Given the description of an element on the screen output the (x, y) to click on. 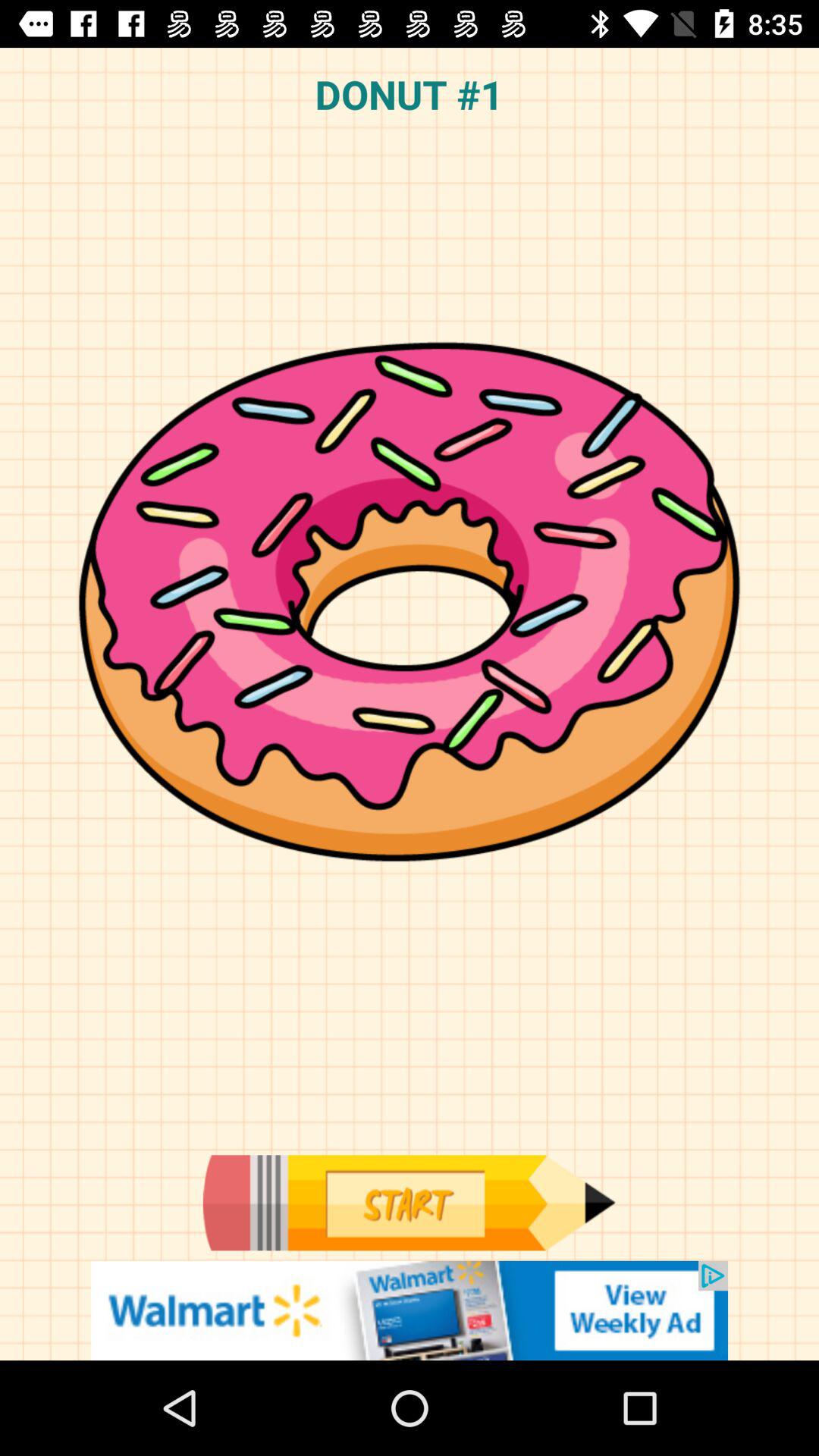
view the advertisement (409, 1310)
